Given the description of an element on the screen output the (x, y) to click on. 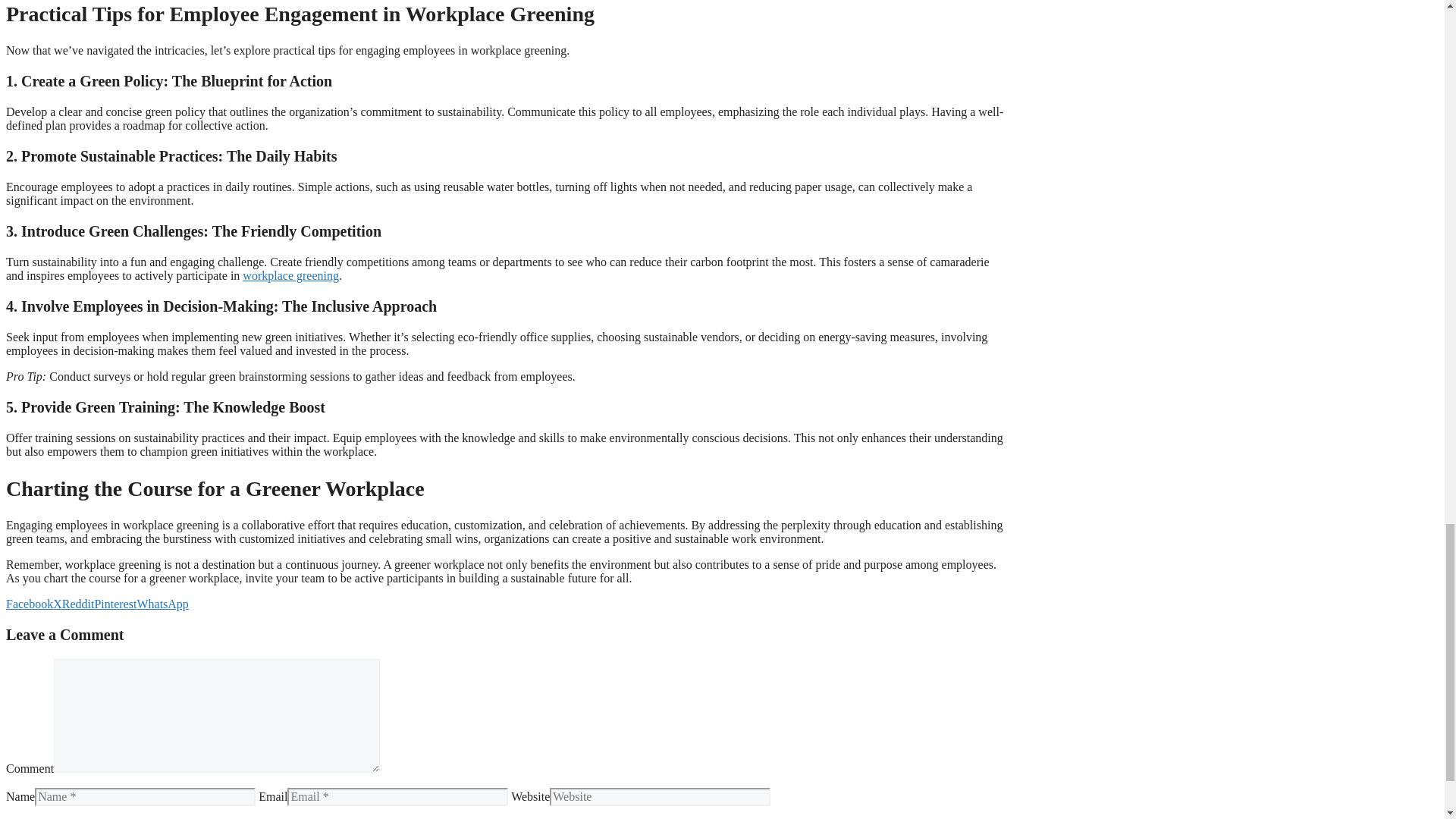
Reddit (78, 603)
workplace greening (291, 275)
WhatsApp (161, 603)
Facebook (28, 603)
Pinterest (115, 603)
